Given the description of an element on the screen output the (x, y) to click on. 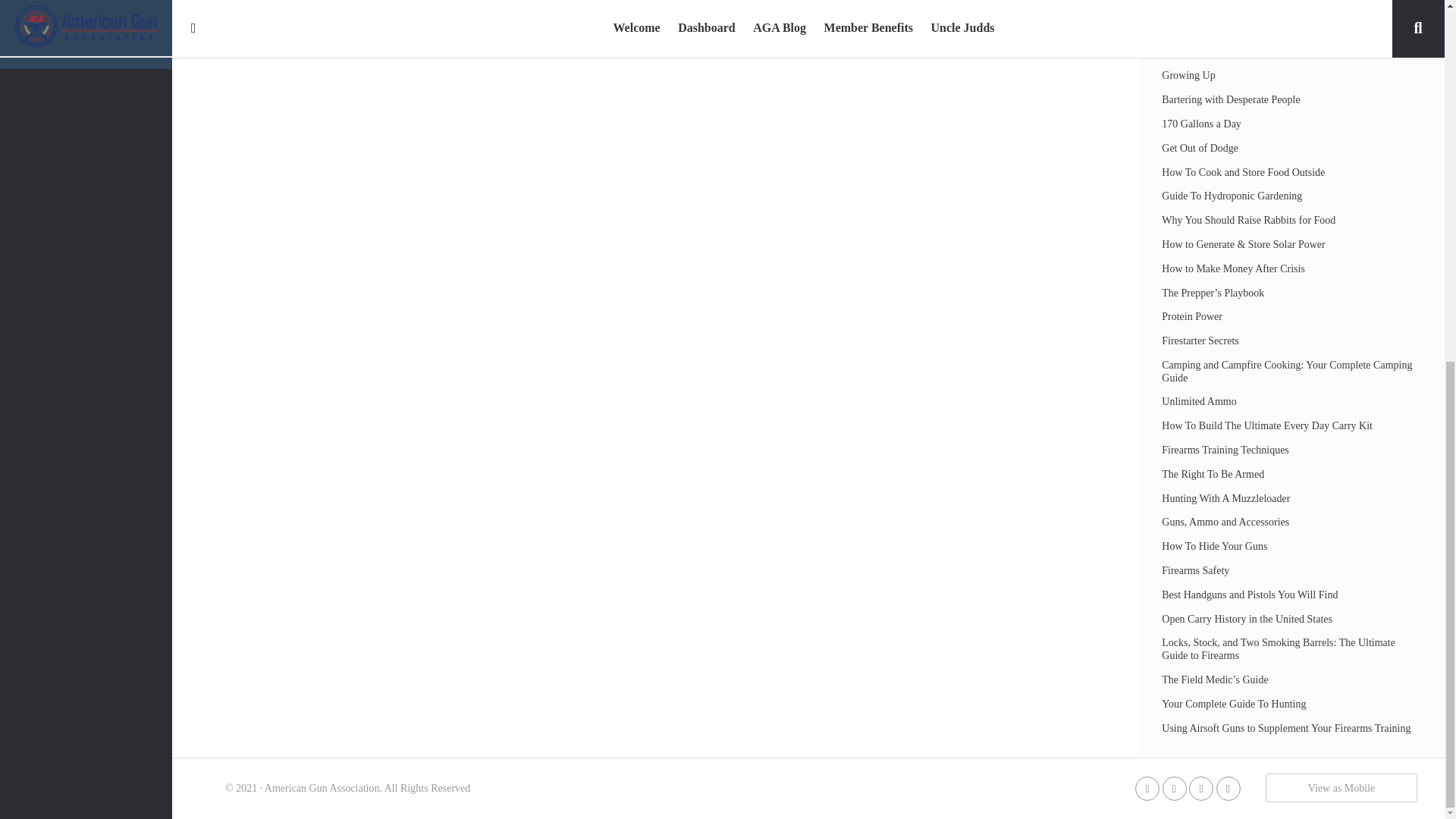
View as Mobile (1340, 787)
pinterest (1227, 787)
instagram (1200, 787)
Member Forums (85, 19)
twitter (1173, 787)
facebook (1146, 787)
